Given the description of an element on the screen output the (x, y) to click on. 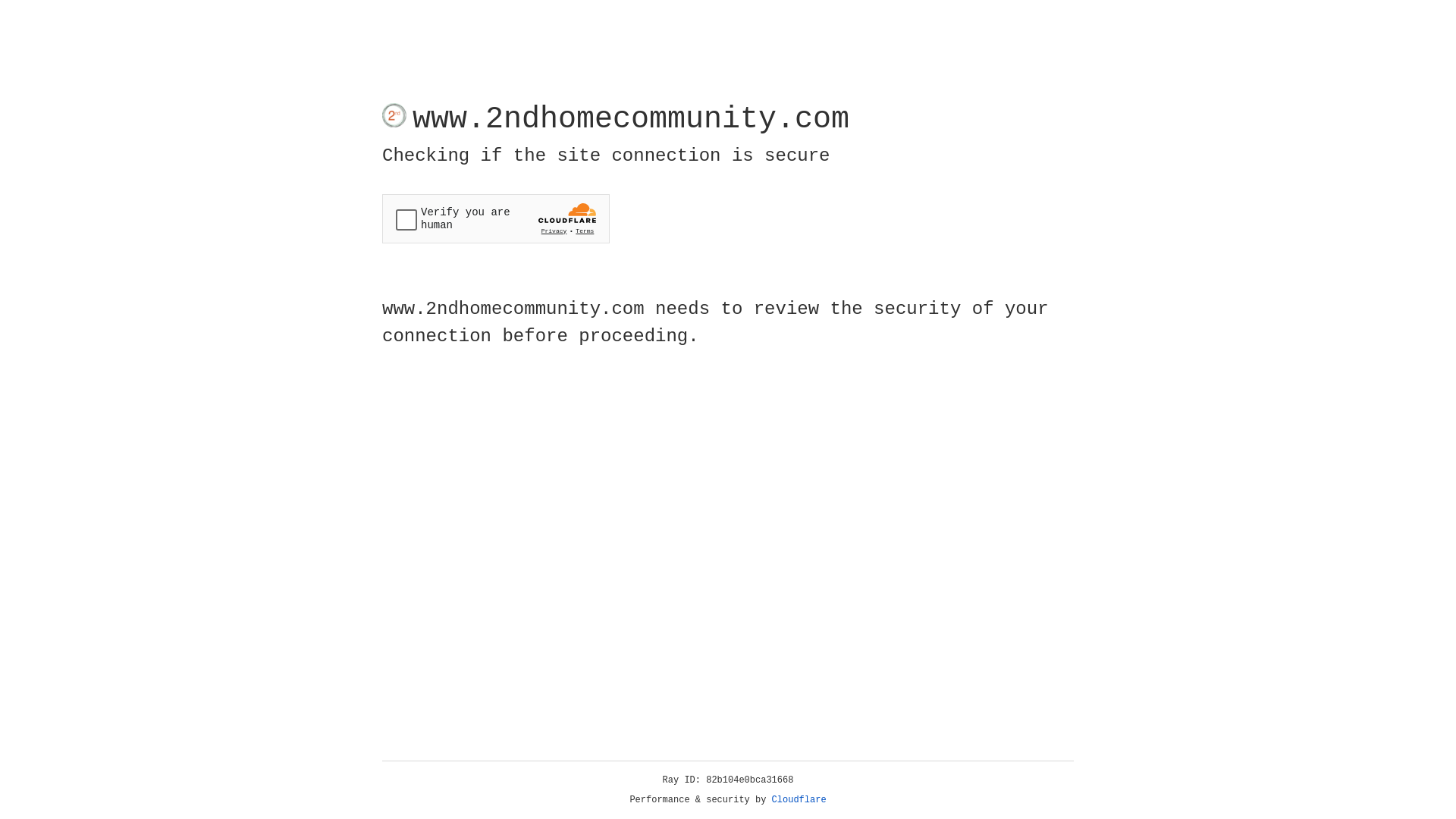
Widget containing a Cloudflare security challenge Element type: hover (495, 218)
Cloudflare Element type: text (798, 799)
